Given the description of an element on the screen output the (x, y) to click on. 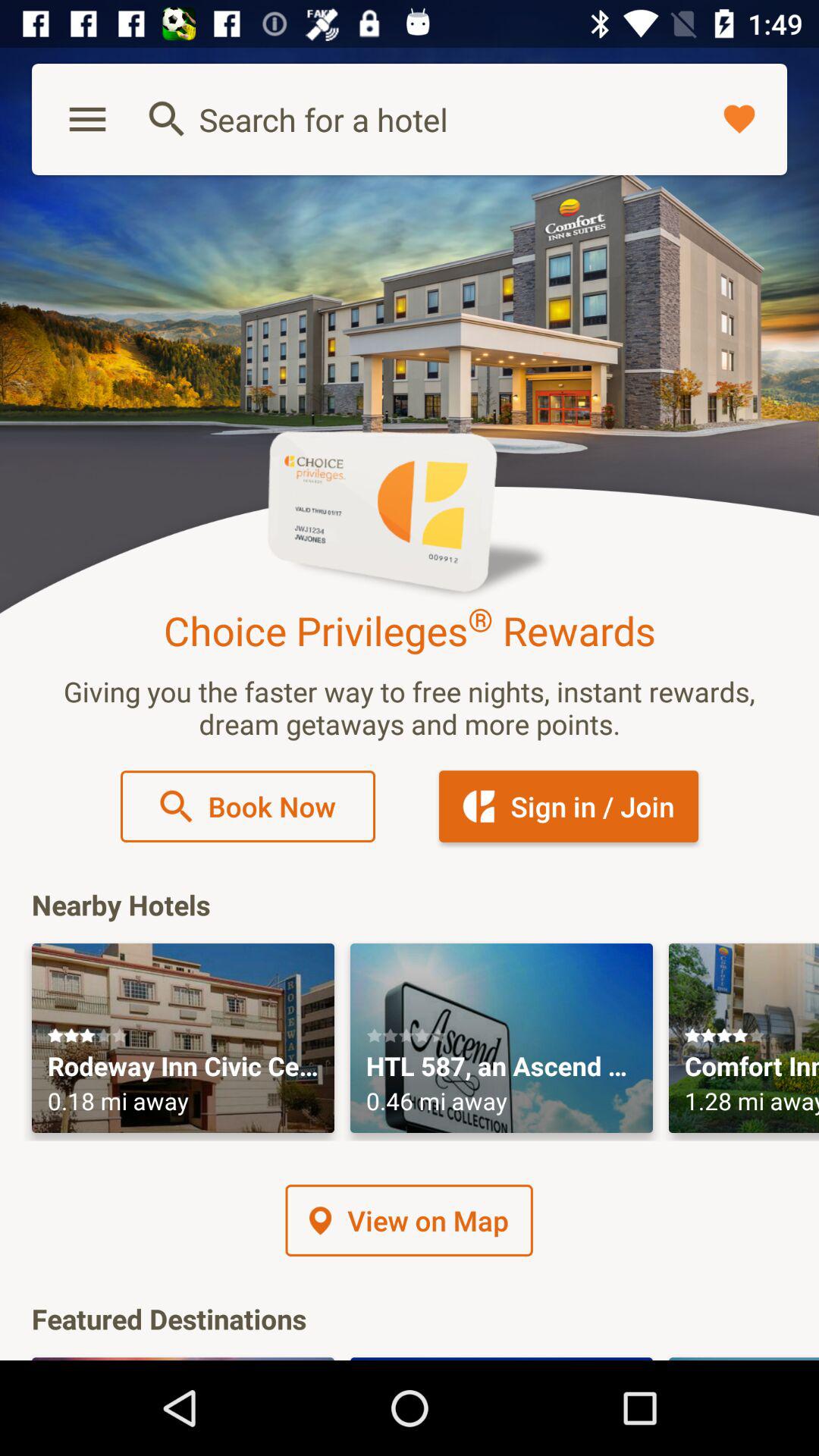
first nearby hotel (182, 1037)
